Given the description of an element on the screen output the (x, y) to click on. 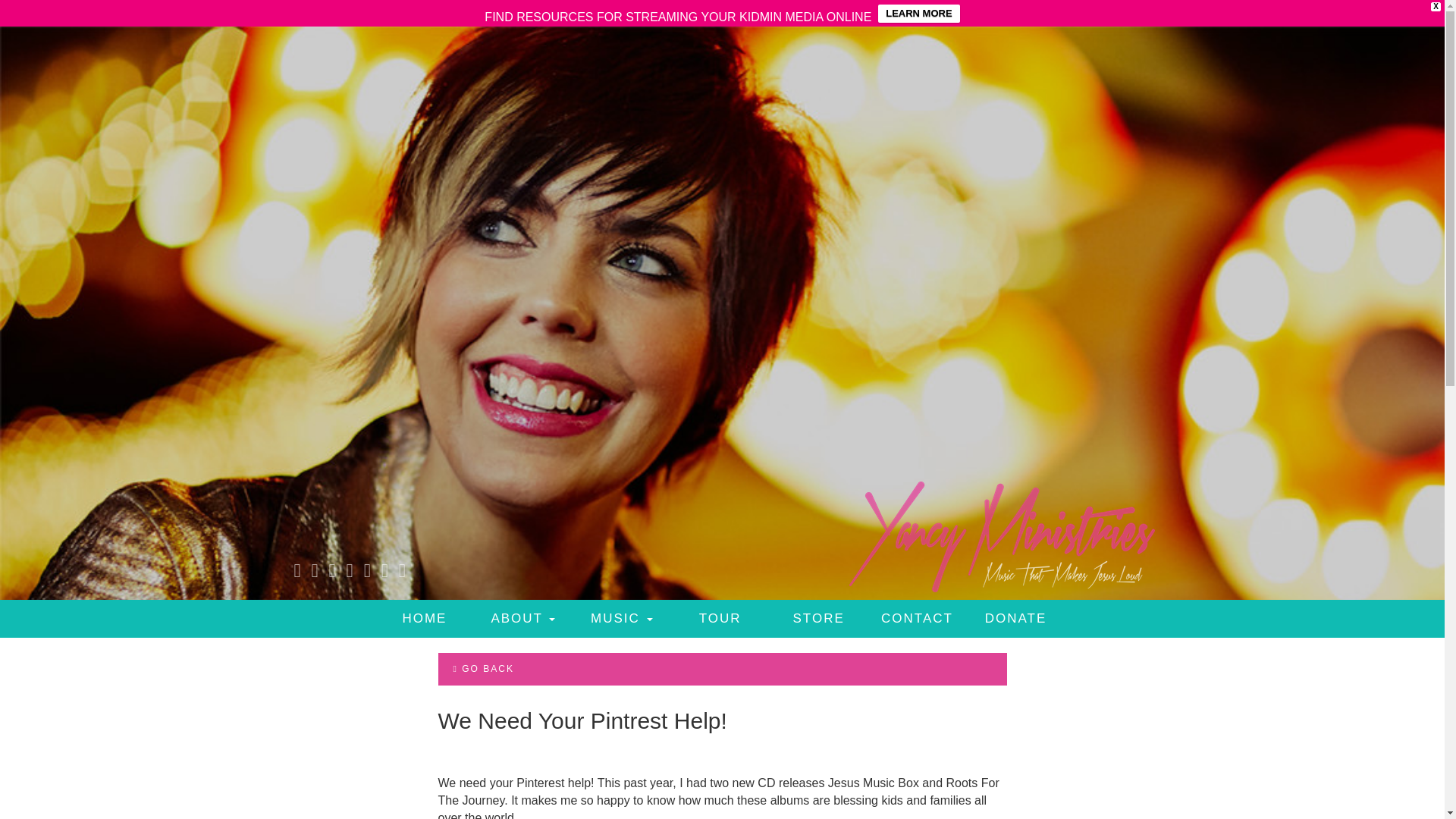
LEARN MORE (918, 13)
TOUR (720, 618)
Store (818, 618)
Contact (916, 618)
Home (424, 618)
STORE (818, 618)
DONATE (1015, 618)
ABOUT (523, 618)
Tour (720, 618)
HOME (424, 618)
